Given the description of an element on the screen output the (x, y) to click on. 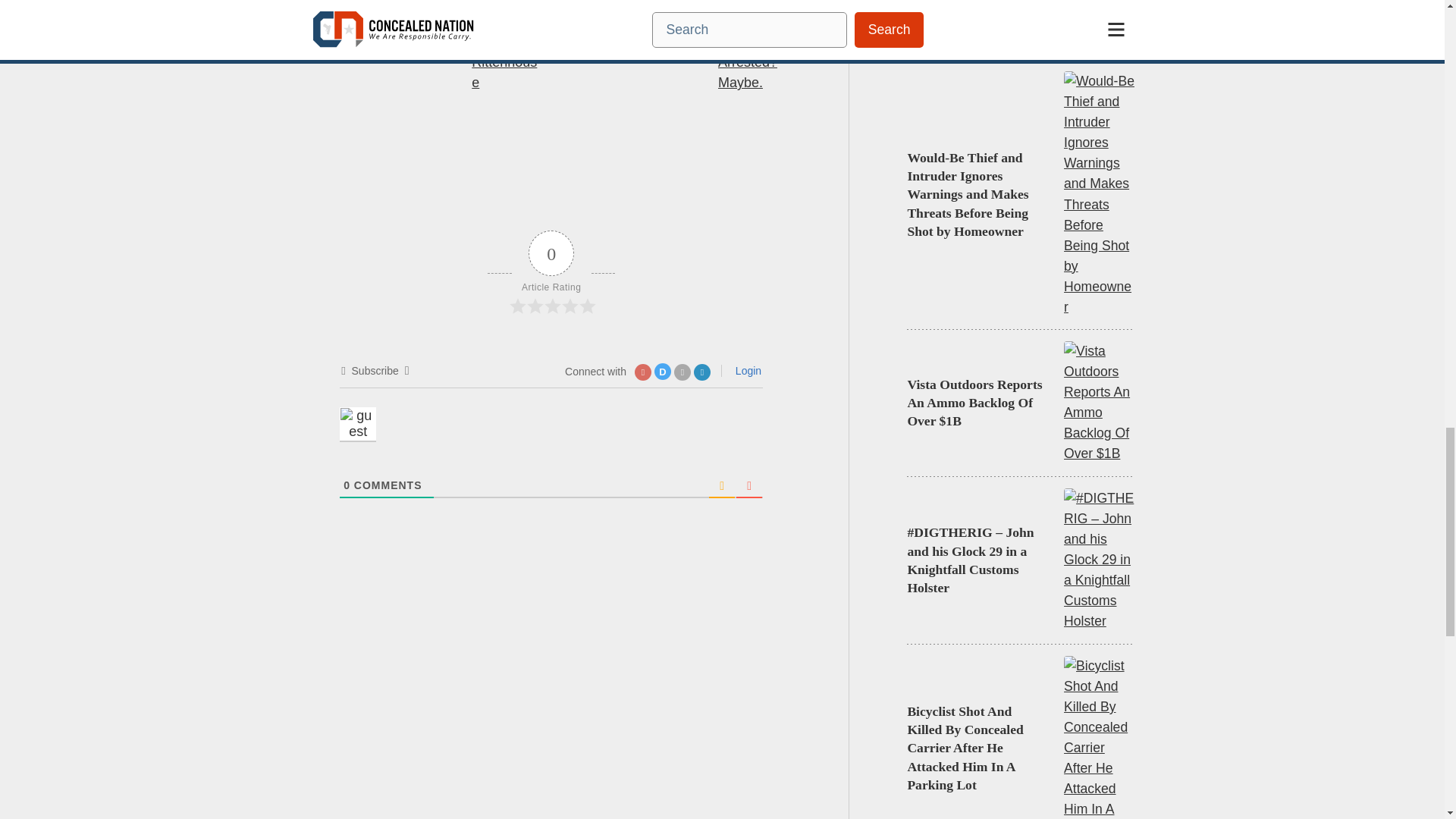
Login (745, 370)
